Given the description of an element on the screen output the (x, y) to click on. 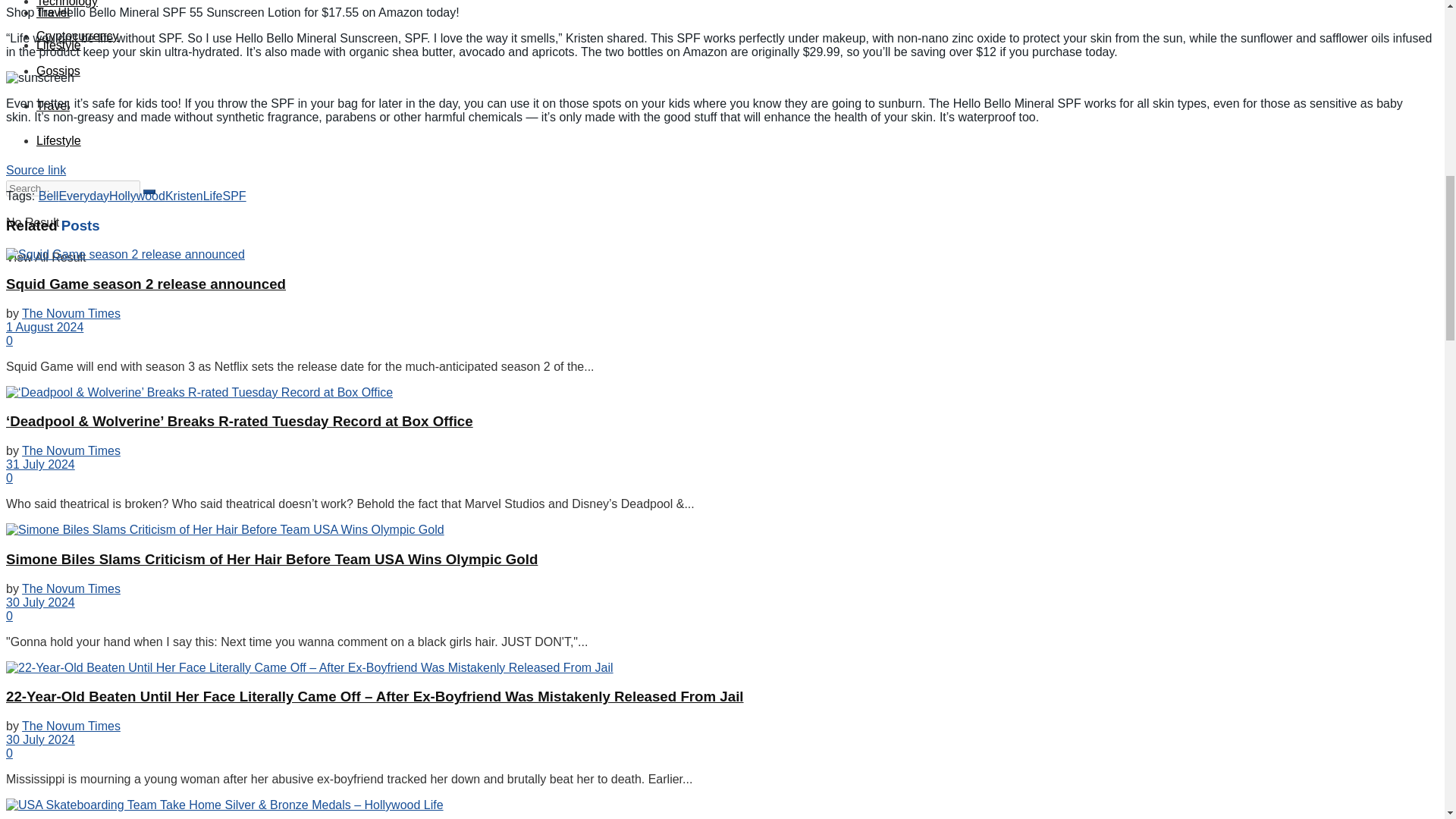
Lifestyle (58, 44)
Squid Game season 2 release announced (124, 254)
Travel (52, 11)
